Given the description of an element on the screen output the (x, y) to click on. 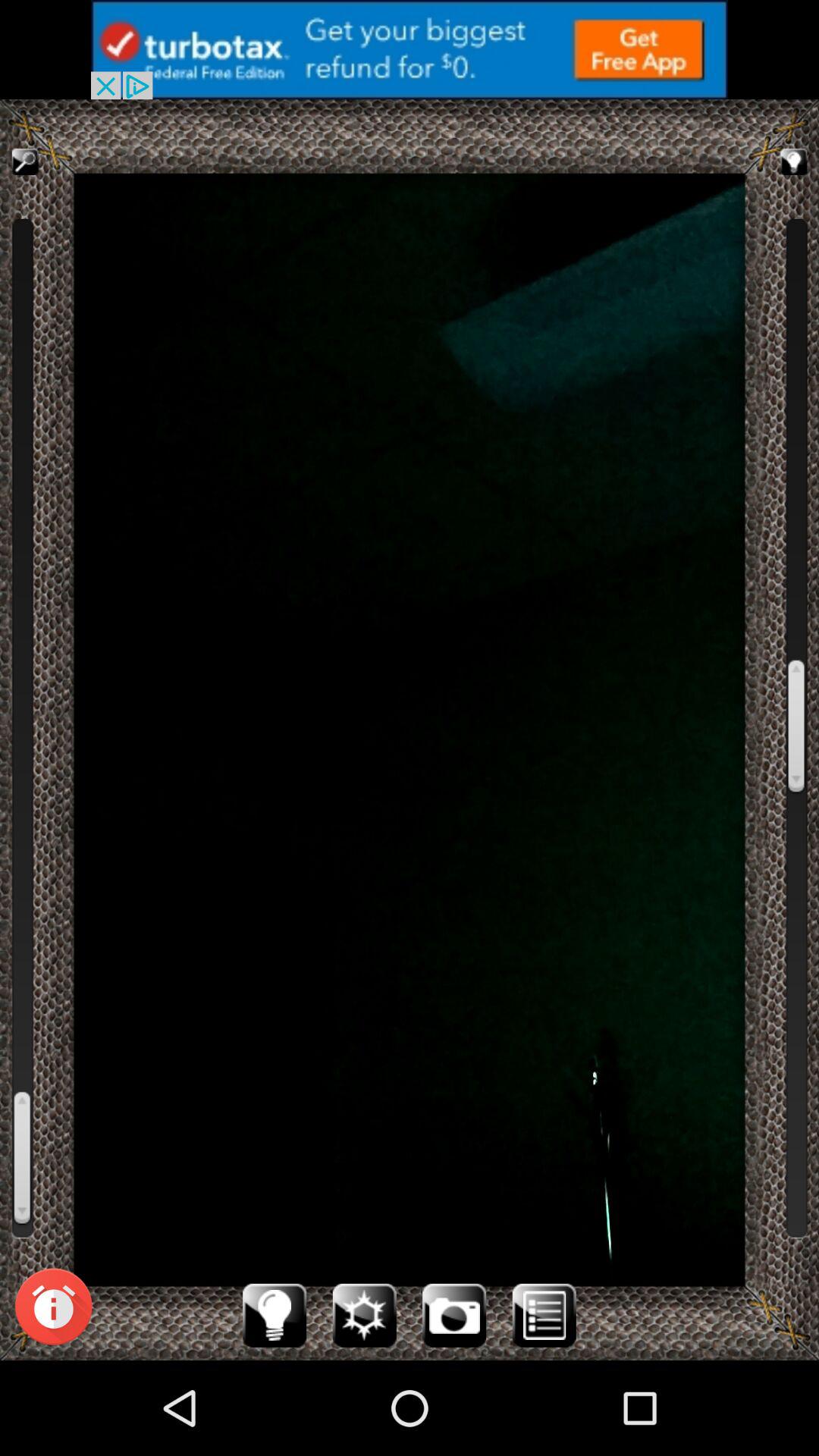
advertisement display (409, 49)
